Given the description of an element on the screen output the (x, y) to click on. 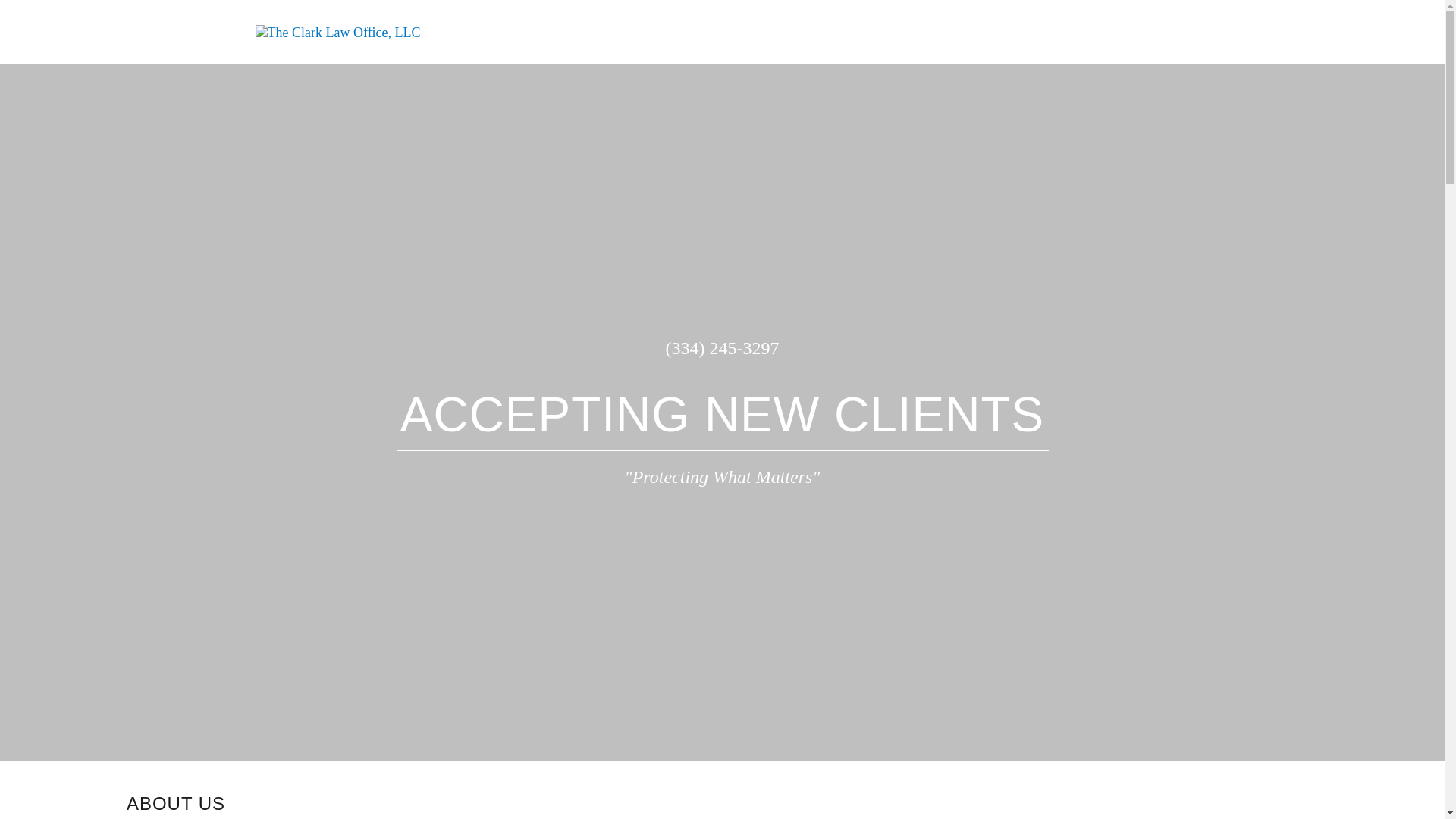
The Clark Law Office, LLC (337, 30)
